Given the description of an element on the screen output the (x, y) to click on. 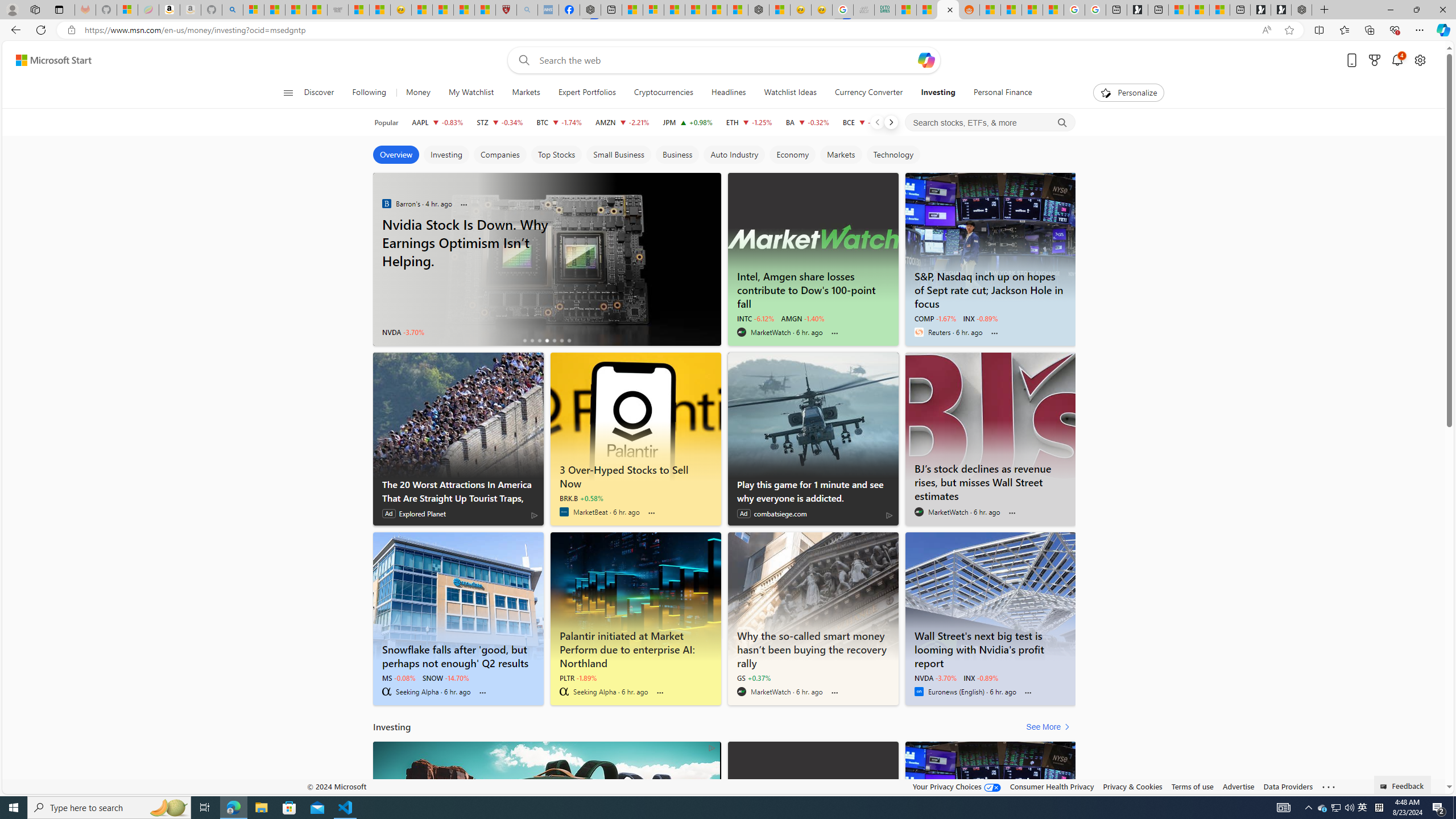
Personal Finance (997, 92)
Split screen (1318, 29)
Companies (500, 154)
DITOGAMES AG Imprint (884, 9)
My Watchlist (471, 92)
Data Providers (1288, 785)
BRK.B +0.58% (580, 497)
INTC -6.12% (755, 317)
New tab (1239, 9)
Consumer Health Privacy (1051, 785)
